Given the description of an element on the screen output the (x, y) to click on. 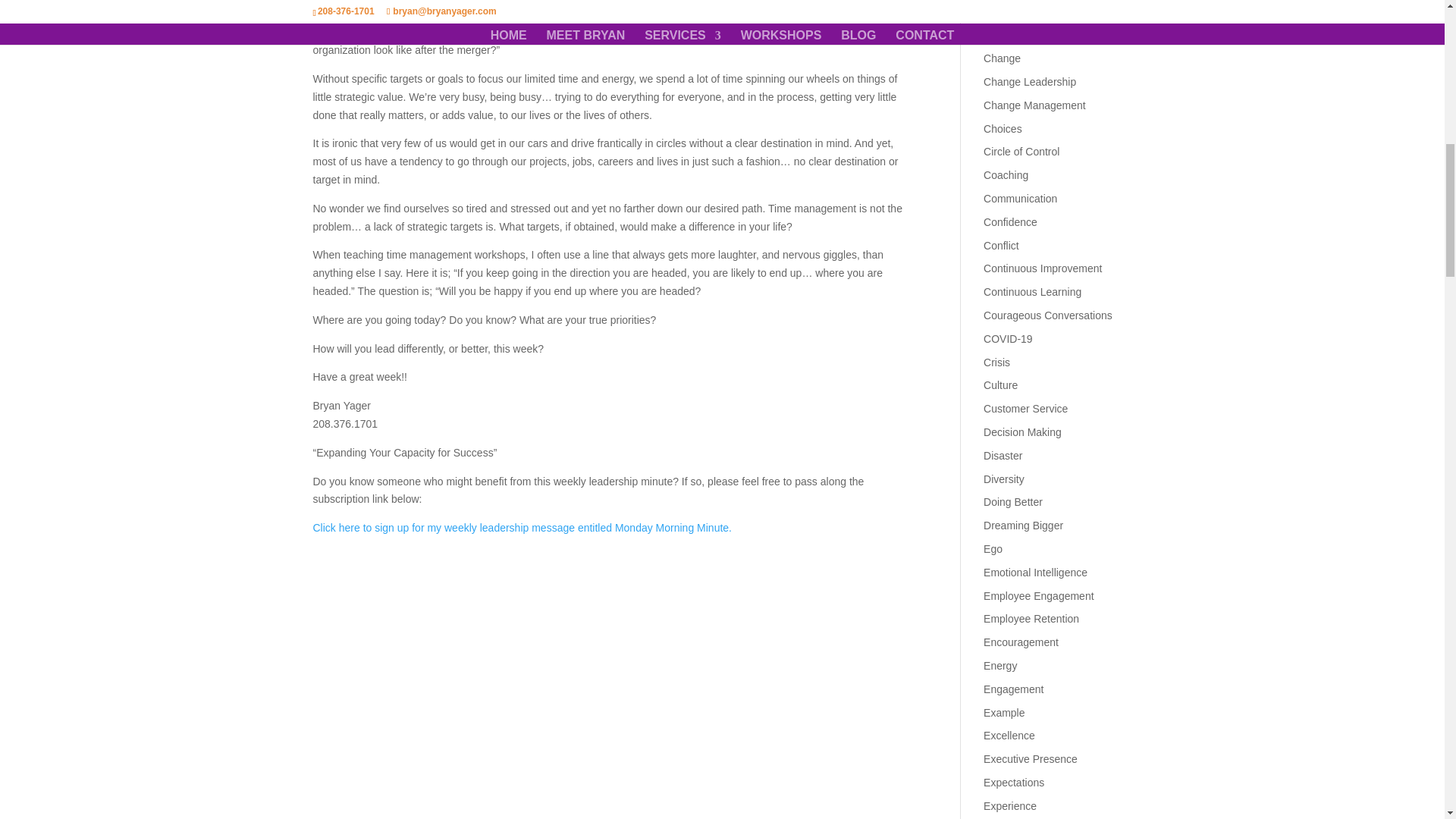
Beliefs (999, 11)
Challenge (1007, 34)
Change Leadership (1029, 81)
Change (1002, 58)
Change Management (1035, 105)
